Given the description of an element on the screen output the (x, y) to click on. 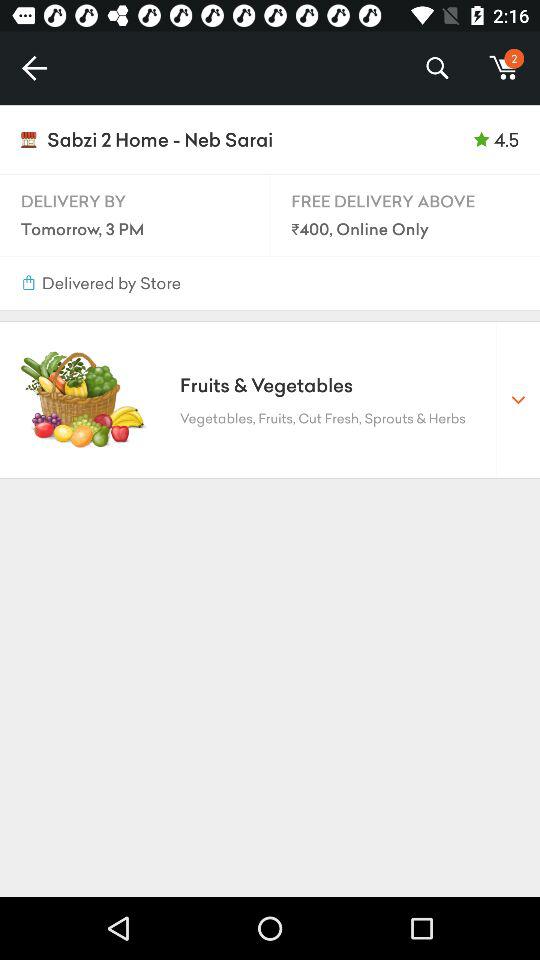
turn off the item to the right of the % (503, 67)
